Given the description of an element on the screen output the (x, y) to click on. 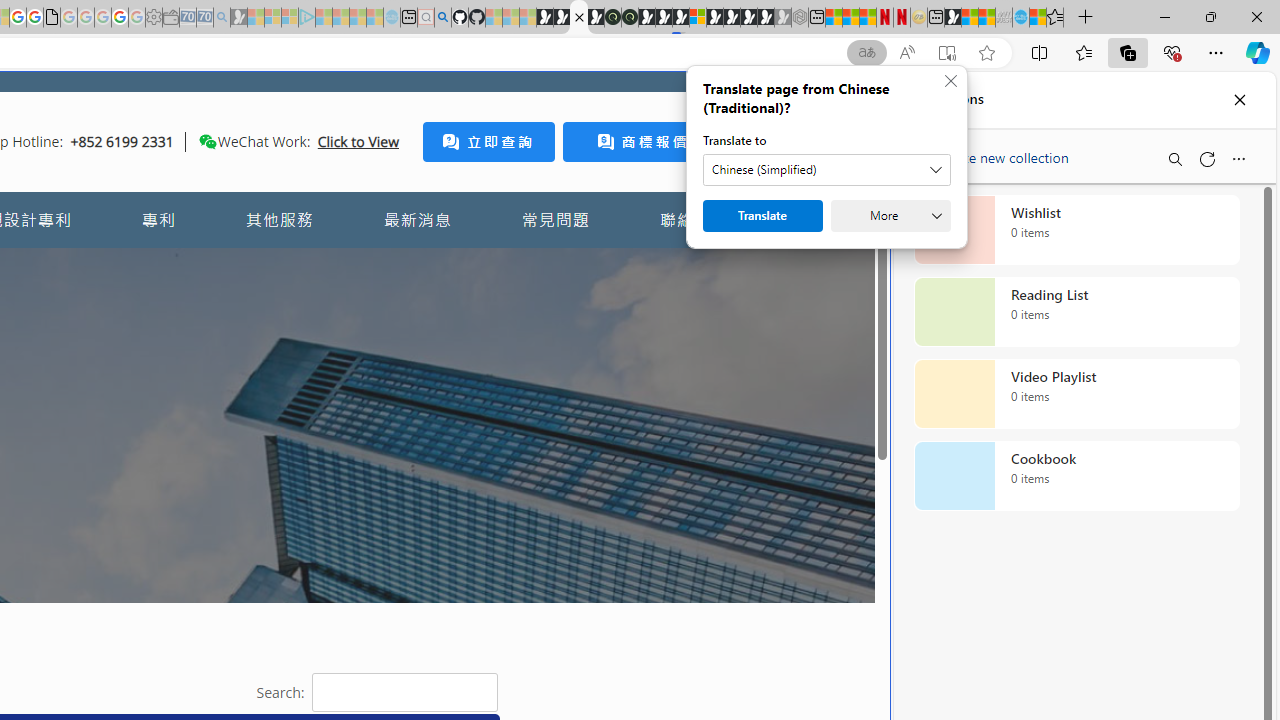
World - MSN (969, 17)
Play Free Online Games | Games from Microsoft Start (731, 17)
Services - Maintenance | Sky Blue Bikes - Sky Blue Bikes (1020, 17)
Search: (404, 692)
Microsoft account | Privacy - Sleeping (289, 17)
